Given the description of an element on the screen output the (x, y) to click on. 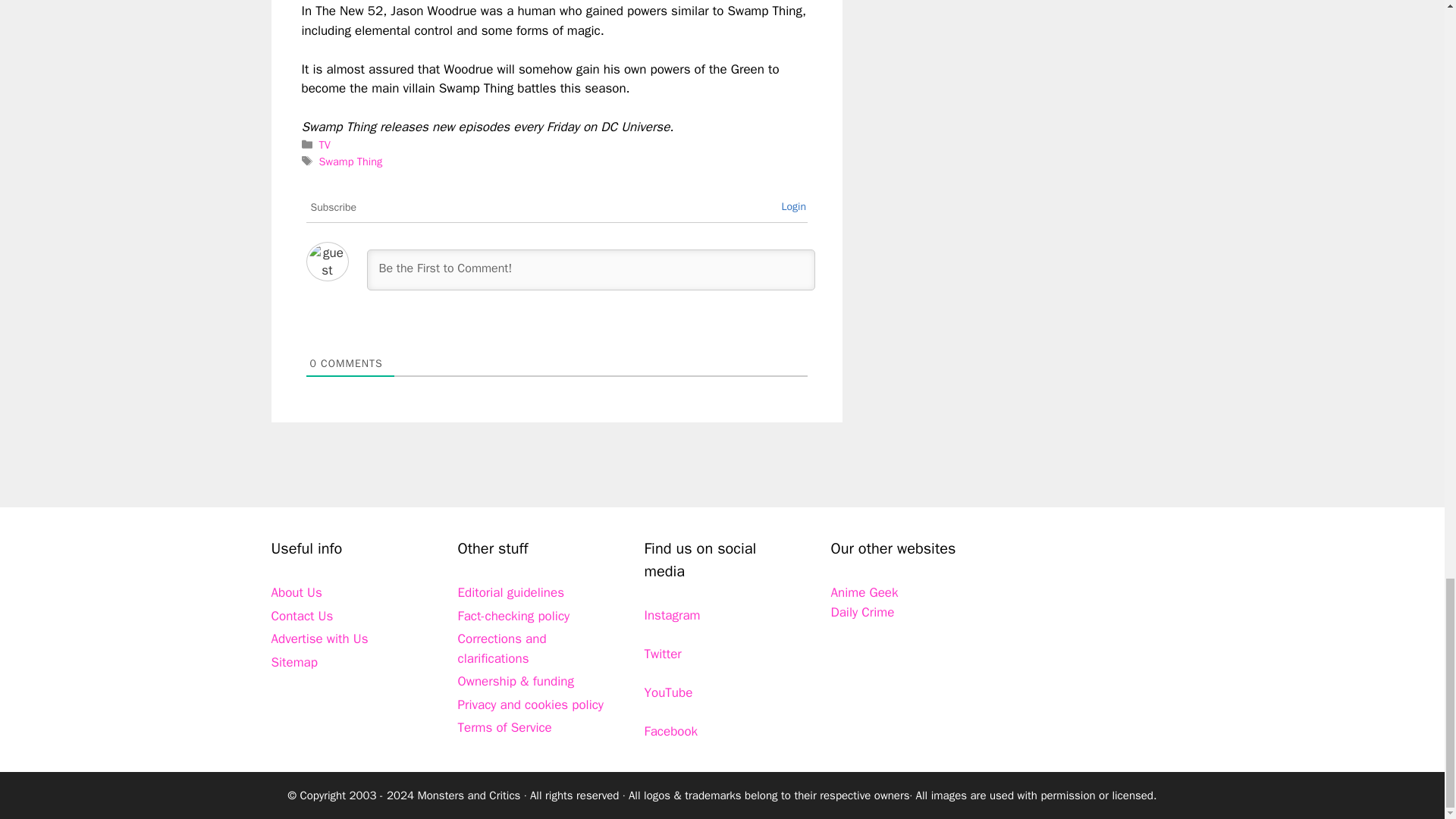
Swamp Thing (350, 161)
Advertise with Us (319, 638)
Corrections and clarifications (502, 648)
Privacy and cookies policy (531, 704)
Fact-checking policy (514, 616)
Editorial guidelines (511, 592)
Sitemap (293, 662)
About Us (295, 592)
Login (793, 205)
Contact Us (301, 616)
